Given the description of an element on the screen output the (x, y) to click on. 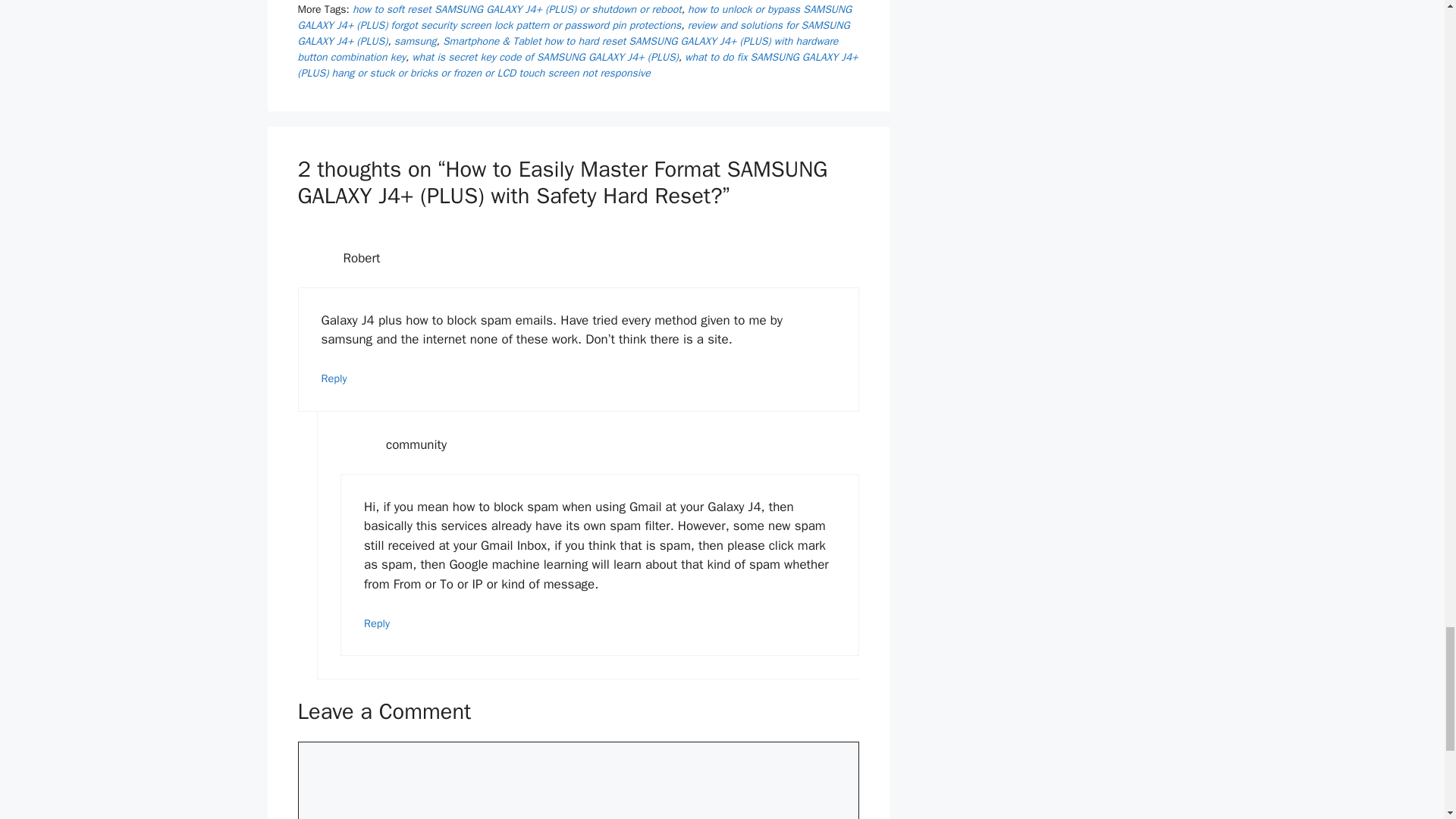
samsung (415, 41)
Reply (377, 622)
Reply (334, 377)
